Given the description of an element on the screen output the (x, y) to click on. 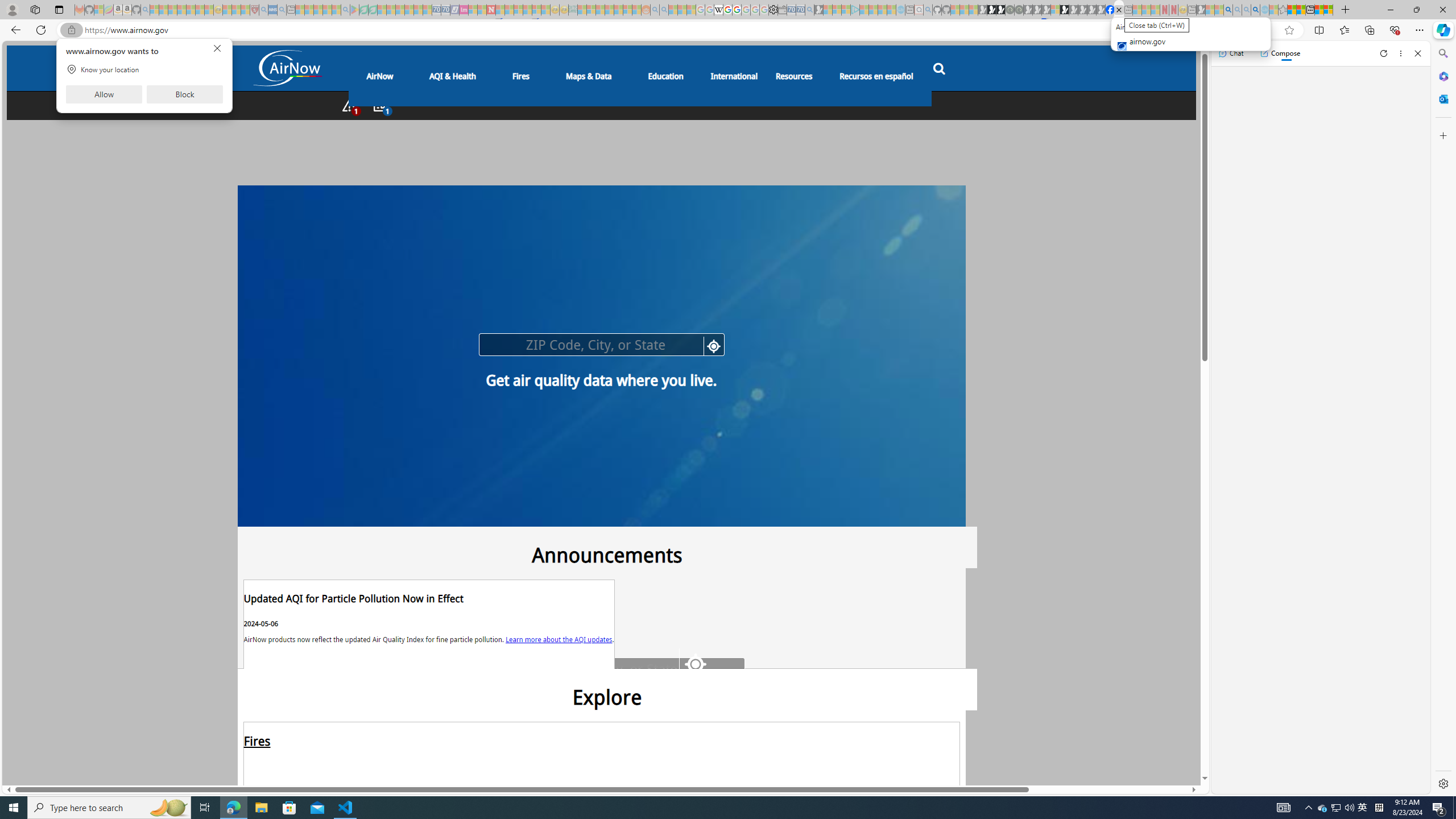
utah sues federal government - Search - Sleeping (281, 9)
Air Now Logo (286, 67)
